Given the description of an element on the screen output the (x, y) to click on. 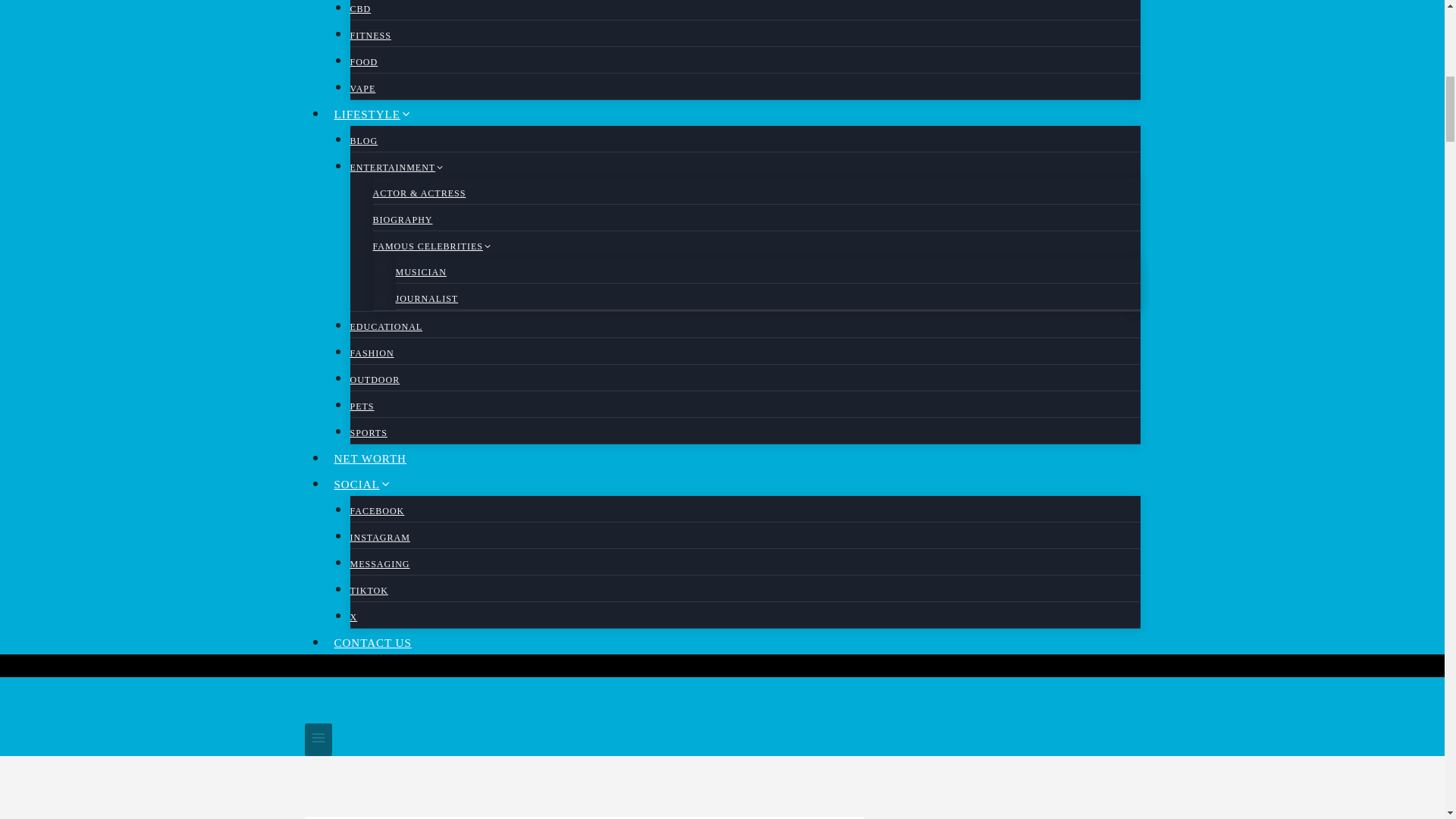
VAPE (362, 88)
LIFESTYLE (373, 114)
CBD (360, 11)
BIOGRAPHY (402, 219)
ENTERTAINMENT (397, 167)
BLOG (364, 140)
FOOD (364, 61)
FITNESS (370, 35)
